Given the description of an element on the screen output the (x, y) to click on. 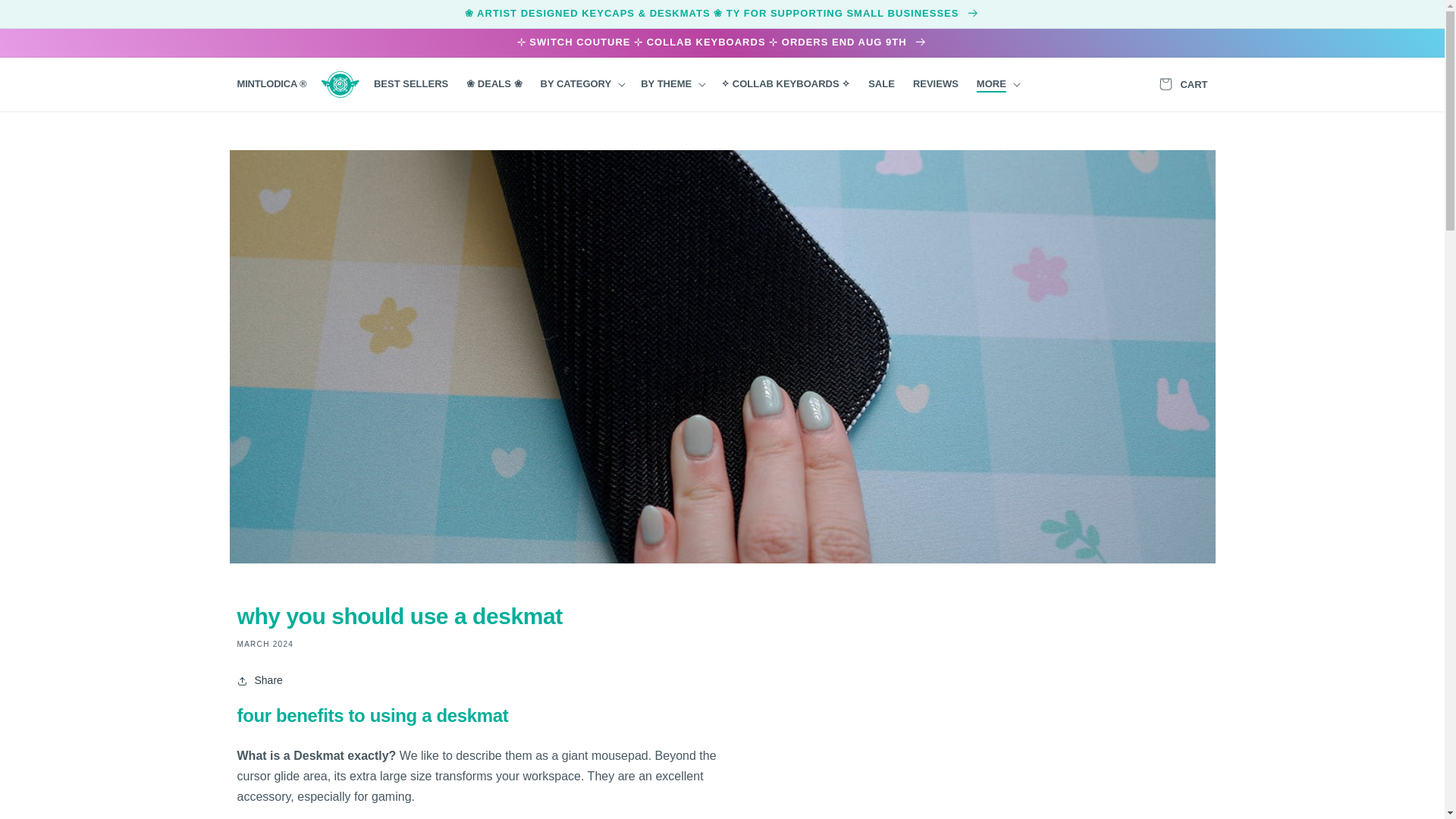
BEST SELLERS (411, 83)
SALE (881, 83)
SKIP TO CONTENT (45, 16)
REVIEWS (936, 83)
